Given the description of an element on the screen output the (x, y) to click on. 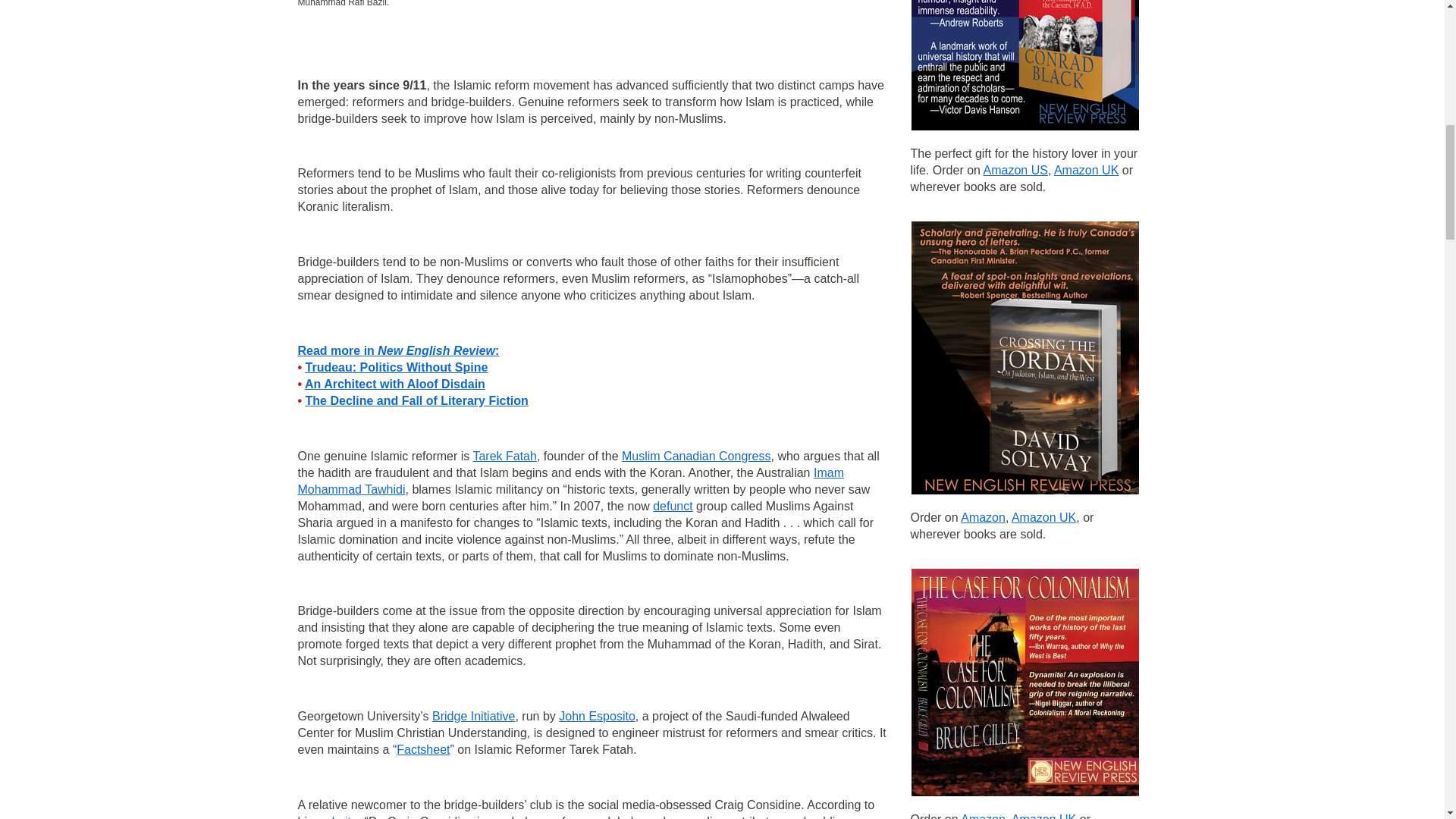
Trudeau: Politics Without Spine (396, 367)
Read more in New English Review: (398, 350)
Imam Mohammad Tawhidi (570, 481)
Muslim Canadian Congress (696, 455)
The Decline and Fall of Literary Fiction (416, 400)
Tarek Fatah (503, 455)
An Architect with Aloof Disdain (394, 383)
